Given the description of an element on the screen output the (x, y) to click on. 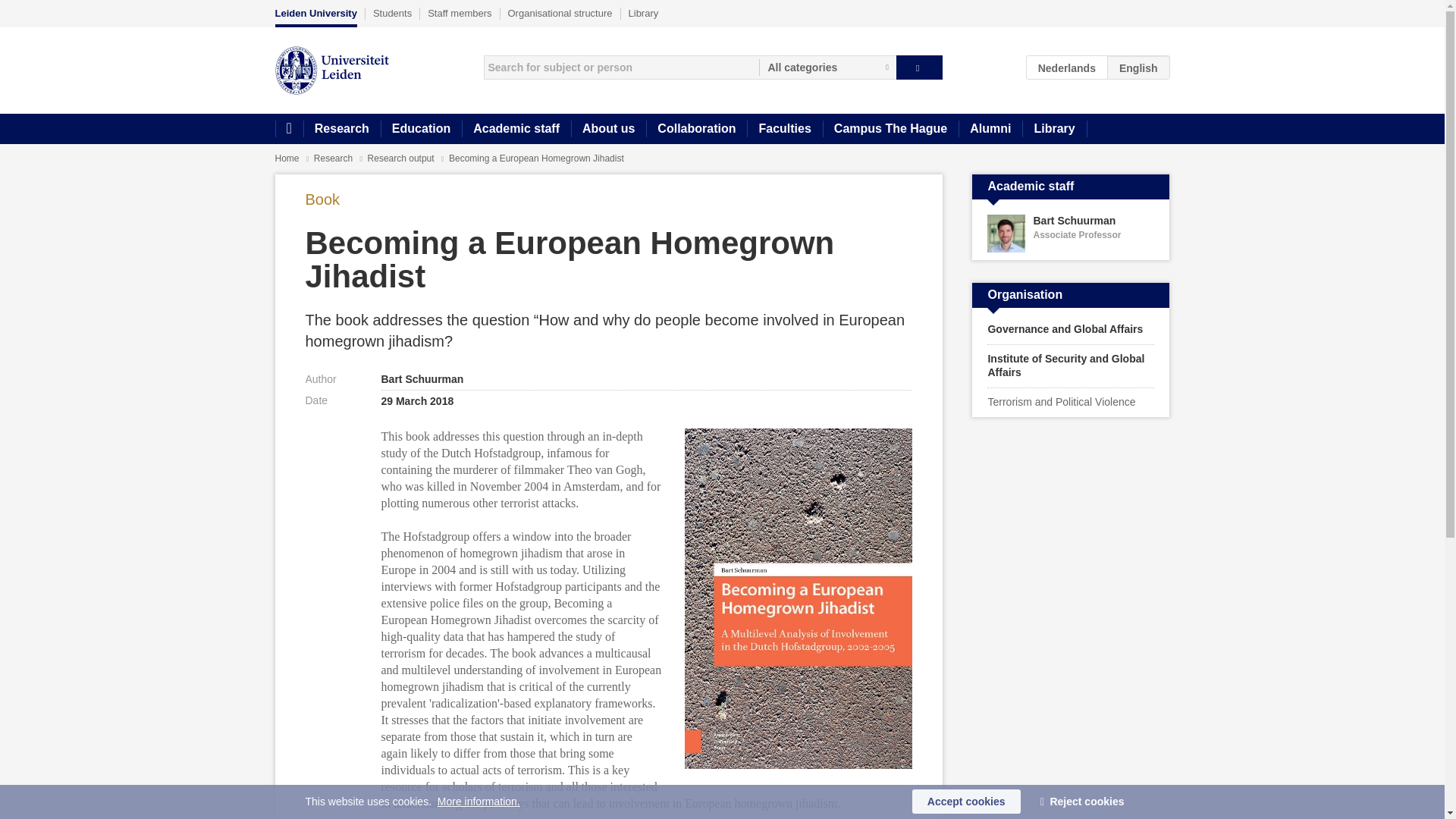
Leiden University (315, 17)
Research (341, 128)
Campus The Hague (890, 128)
NL (1067, 67)
All categories (827, 67)
Home (288, 128)
Library (1054, 128)
Academic staff (515, 128)
Education (420, 128)
Research output (402, 158)
